Given the description of an element on the screen output the (x, y) to click on. 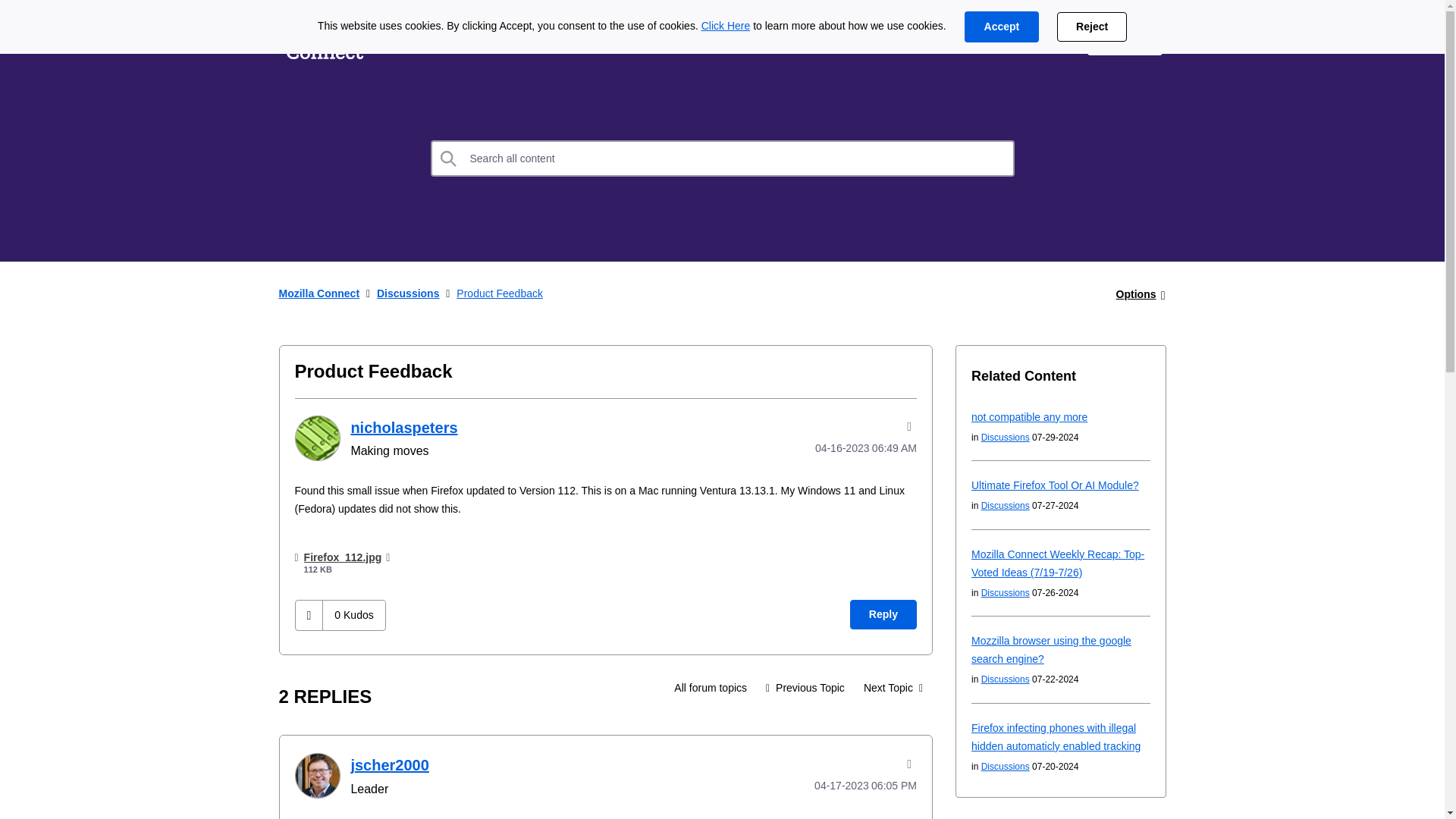
Click here to give kudos to this post. (309, 614)
nicholaspeters (316, 438)
nicholaspeters (403, 427)
Changed Bookmark behavior in folder (893, 687)
Next Topic (893, 687)
Download attachment (387, 557)
Search (448, 158)
Support (1040, 39)
Show option menu (1136, 294)
The total number of kudos this post has received. (353, 614)
Mozilla Connect (324, 39)
Search (722, 158)
Community (607, 39)
Discussions (710, 687)
Discussions (500, 39)
